Given the description of an element on the screen output the (x, y) to click on. 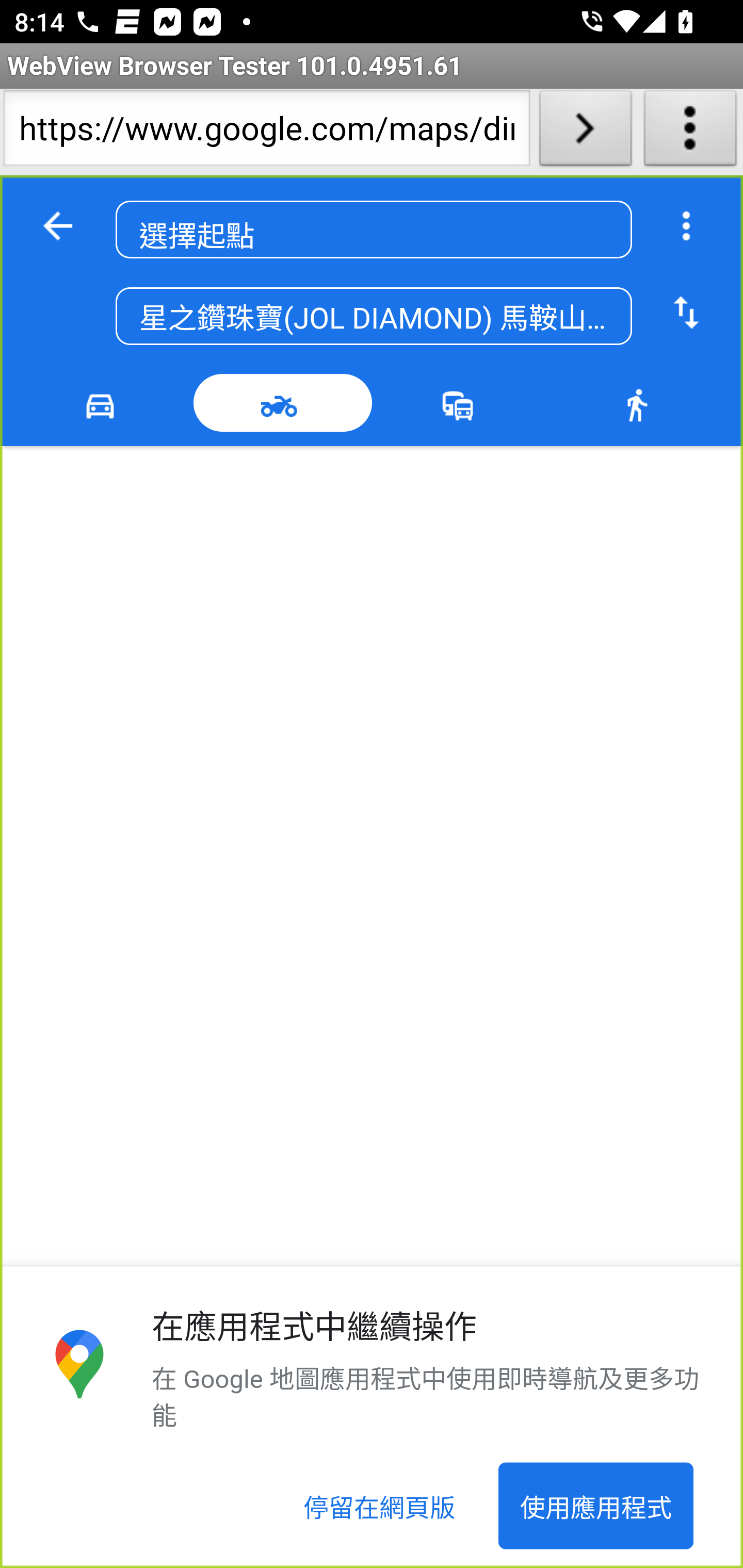
Load URL (585, 132)
About WebView (690, 132)
返回 (58, 226)
更多選項 (686, 226)
將起點和終點對調 (686, 313)
星之鑽珠寶(JOL DIAMOND) 馬鞍山馬鞍山廣場265C鋪, 沙田 (373, 316)
駕駛模式 (104, 402)
機車模式 (282, 402)
大眾運輸模式 (462, 402)
步行模式 (640, 402)
停留在網頁版 (379, 1505)
使用應用程式 (595, 1505)
